Given the description of an element on the screen output the (x, y) to click on. 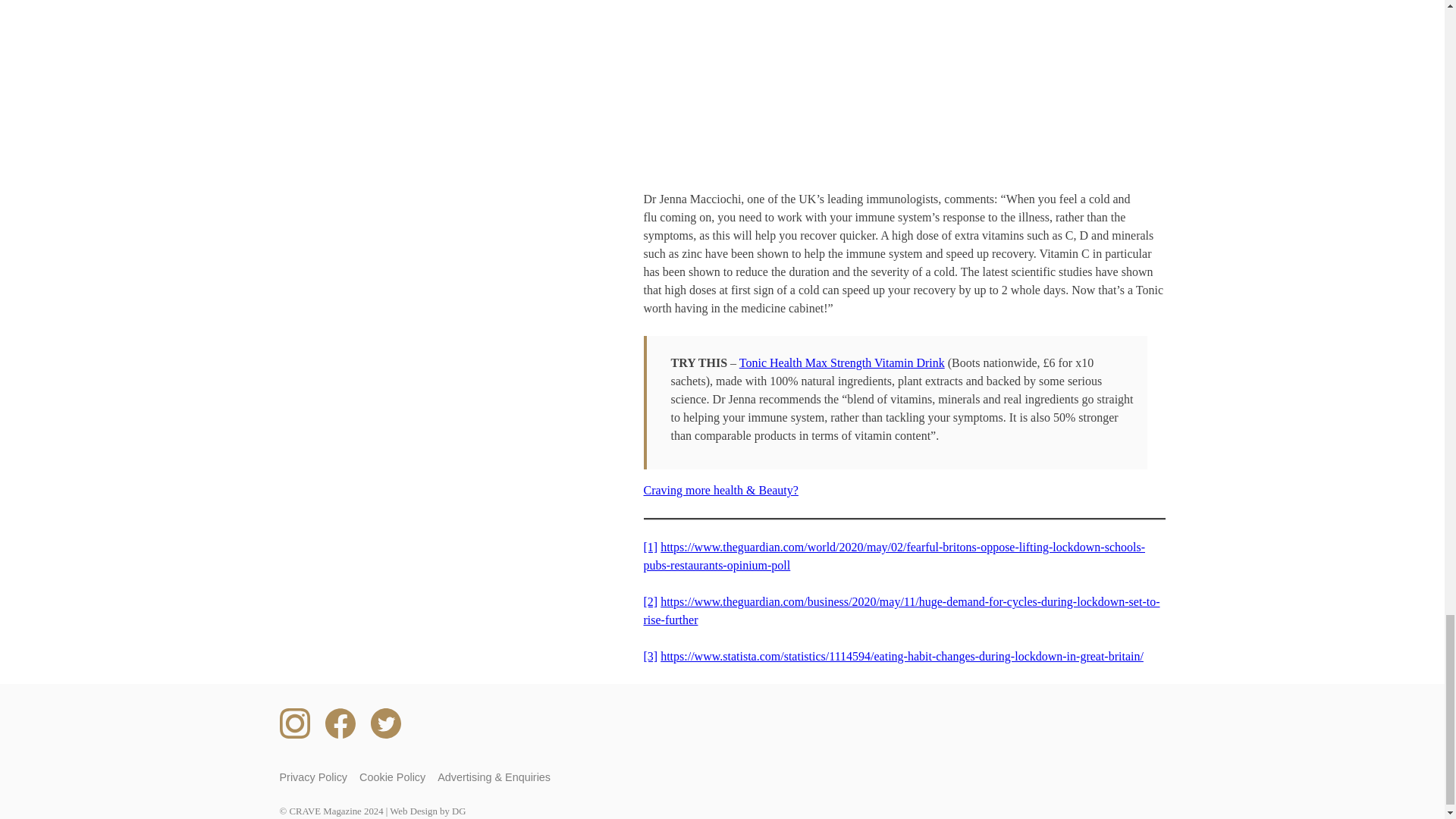
Privacy Policy (313, 776)
Cookie Policy (392, 776)
DG (458, 810)
Tonic Health Max Strength Vitamin Drink (841, 362)
